Given the description of an element on the screen output the (x, y) to click on. 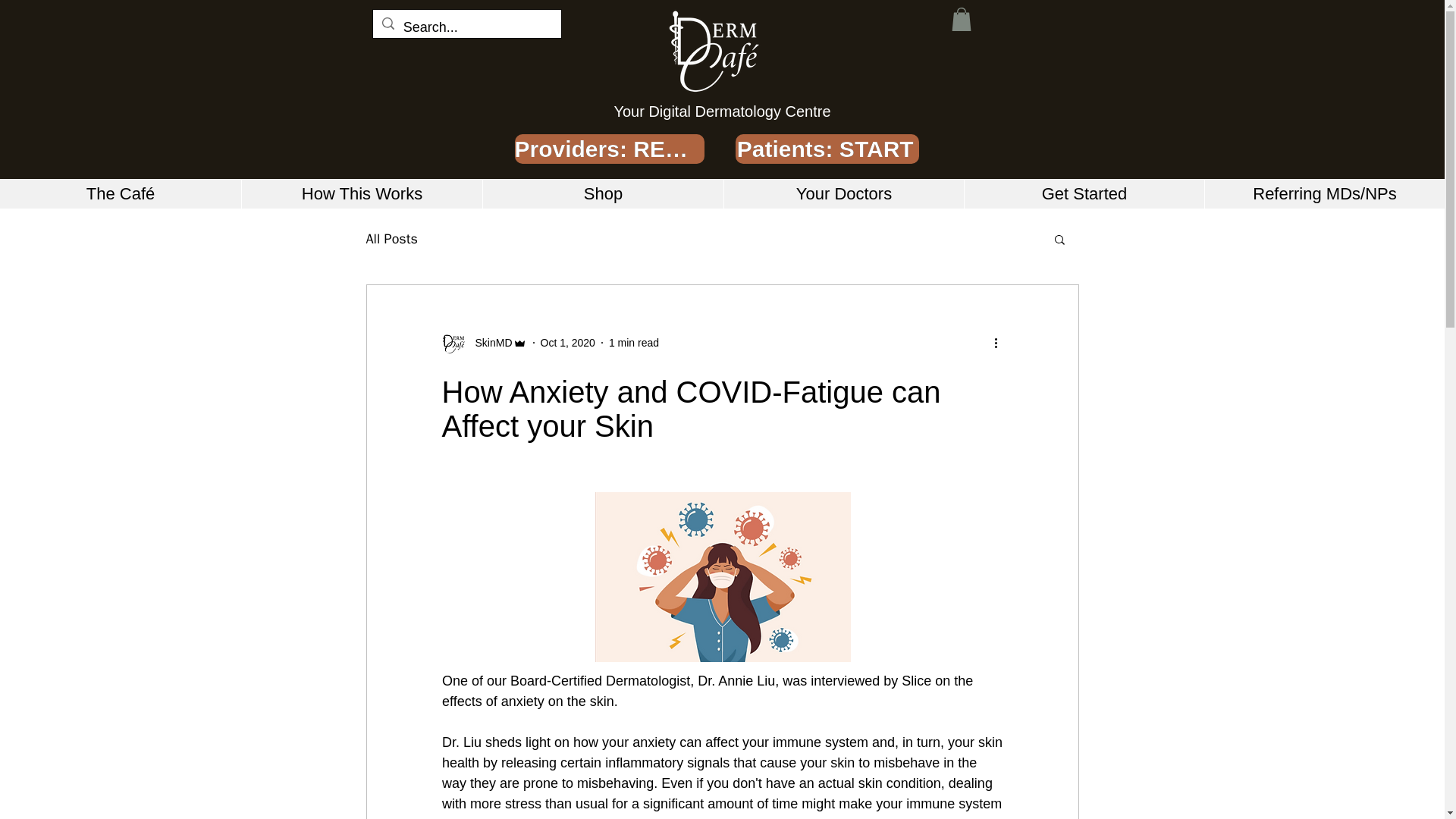
Providers: REFER (608, 148)
SkinMD (483, 342)
Get Started (1083, 193)
Patients: START (826, 148)
1 min read (633, 342)
How This Works (361, 193)
SkinMD  (488, 342)
Shop (602, 193)
Oct 1, 2020 (567, 342)
All Posts (390, 239)
